Given the description of an element on the screen output the (x, y) to click on. 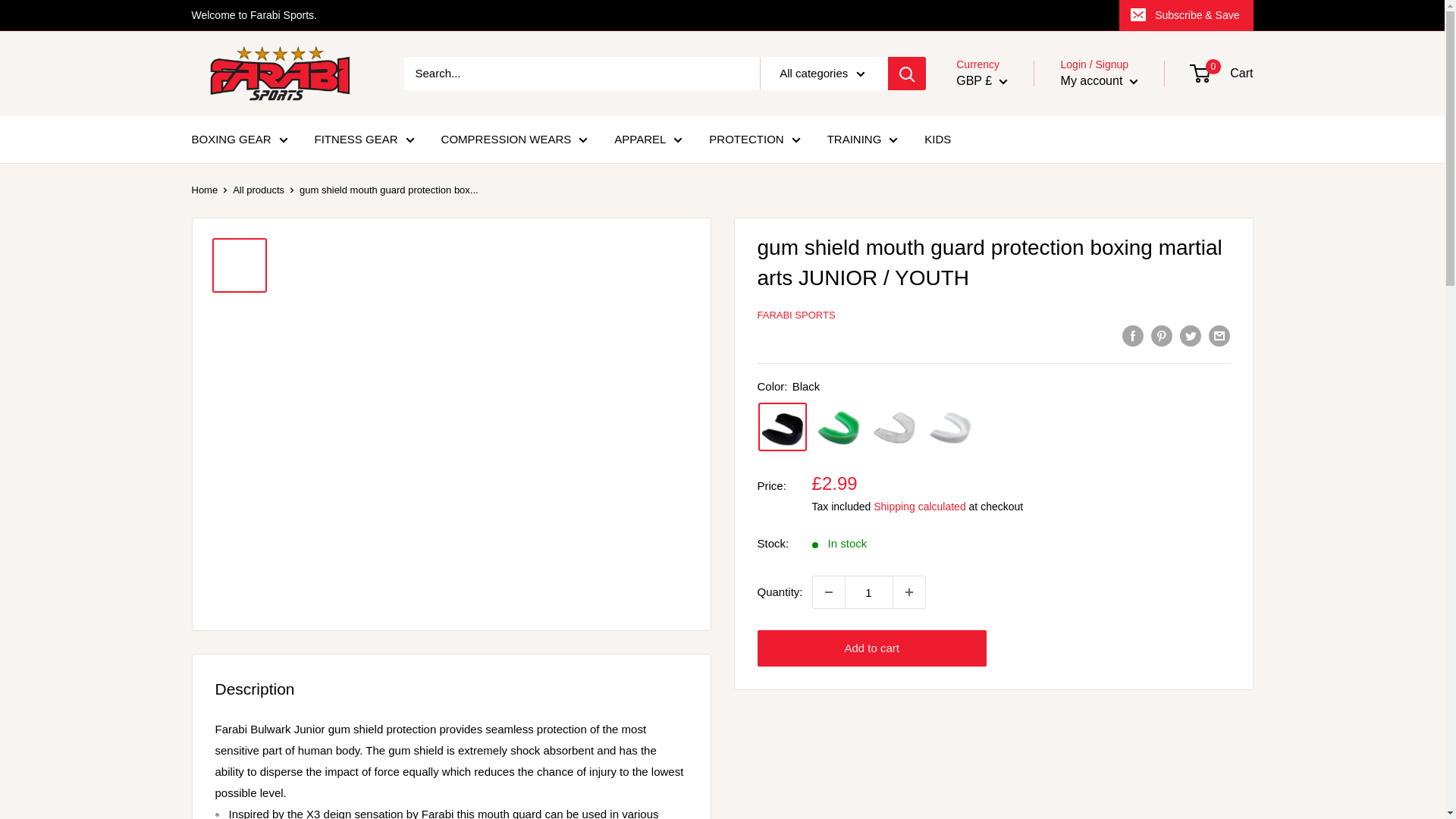
1 (868, 592)
Green (838, 426)
White (950, 426)
Black (782, 426)
Decrease quantity by 1 (828, 592)
Increase quantity by 1 (908, 592)
